Given the description of an element on the screen output the (x, y) to click on. 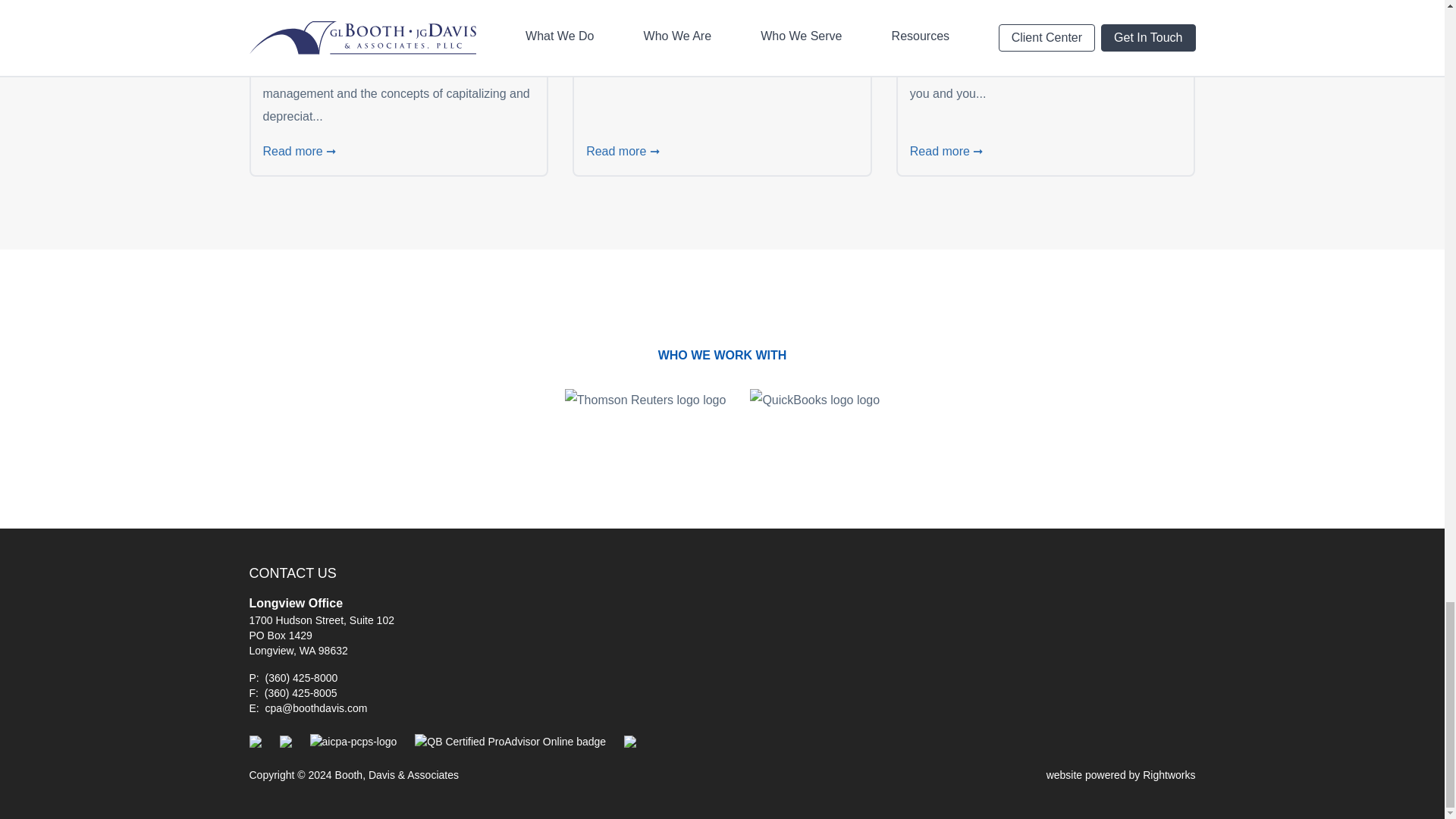
Learn more about AICPA Private Companies Practice Section (352, 741)
Learn more about Peer Review (630, 741)
Learn more about Oregon Society of CPAs (285, 741)
Learn more about Washington Society of CPAs (254, 741)
